Given the description of an element on the screen output the (x, y) to click on. 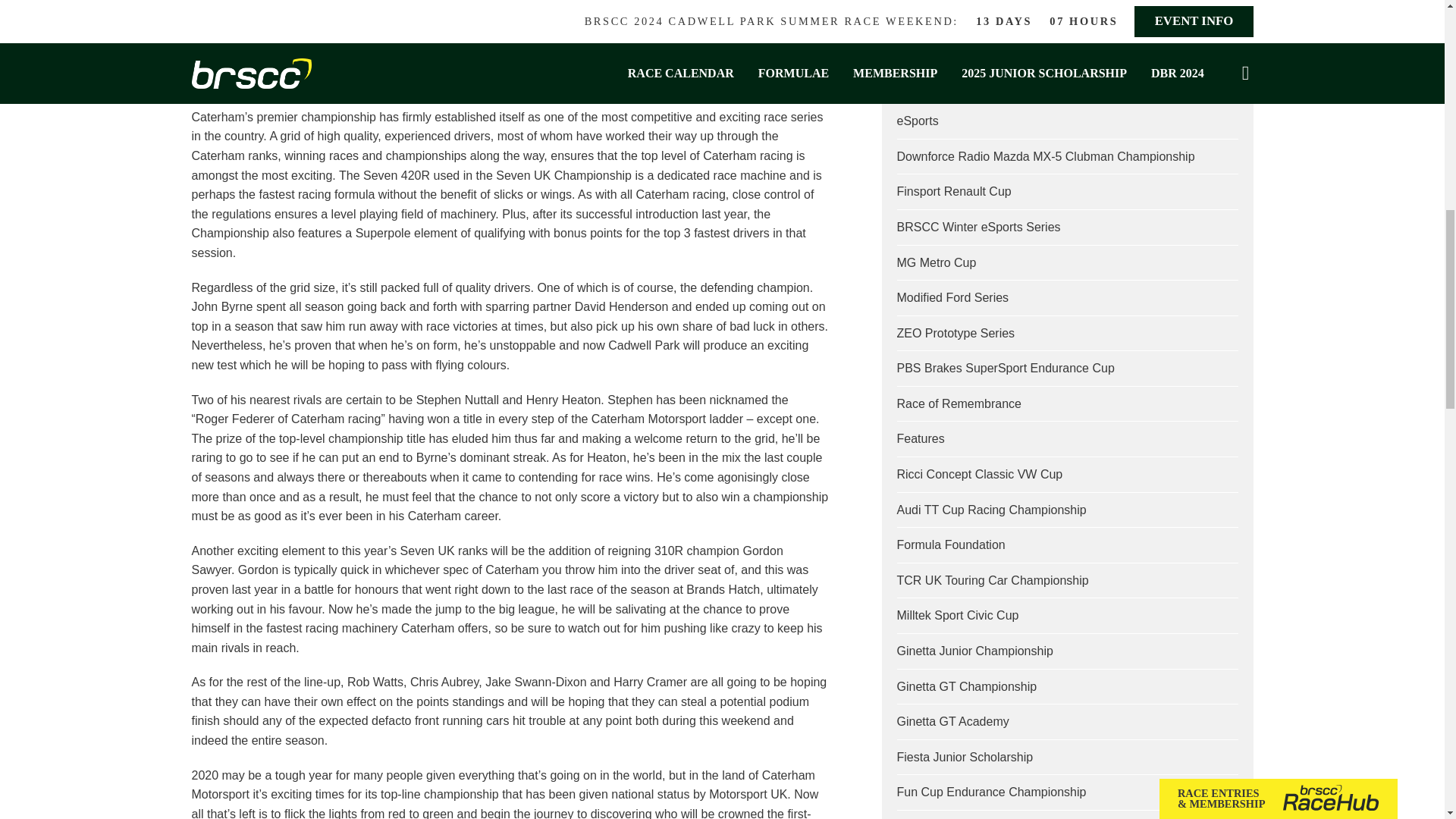
Latest News (929, 14)
BRSCC Evolution Trophy (964, 50)
Downforce Radio Mazda MX-5 Clubman Championship (1044, 155)
Nankang Tyre CityCar Cup Championship (1009, 85)
MG Metro Cup (935, 262)
eSports (916, 120)
BRSCC Winter eSports Series (977, 226)
Finsport Renault Cup (953, 191)
